Given the description of an element on the screen output the (x, y) to click on. 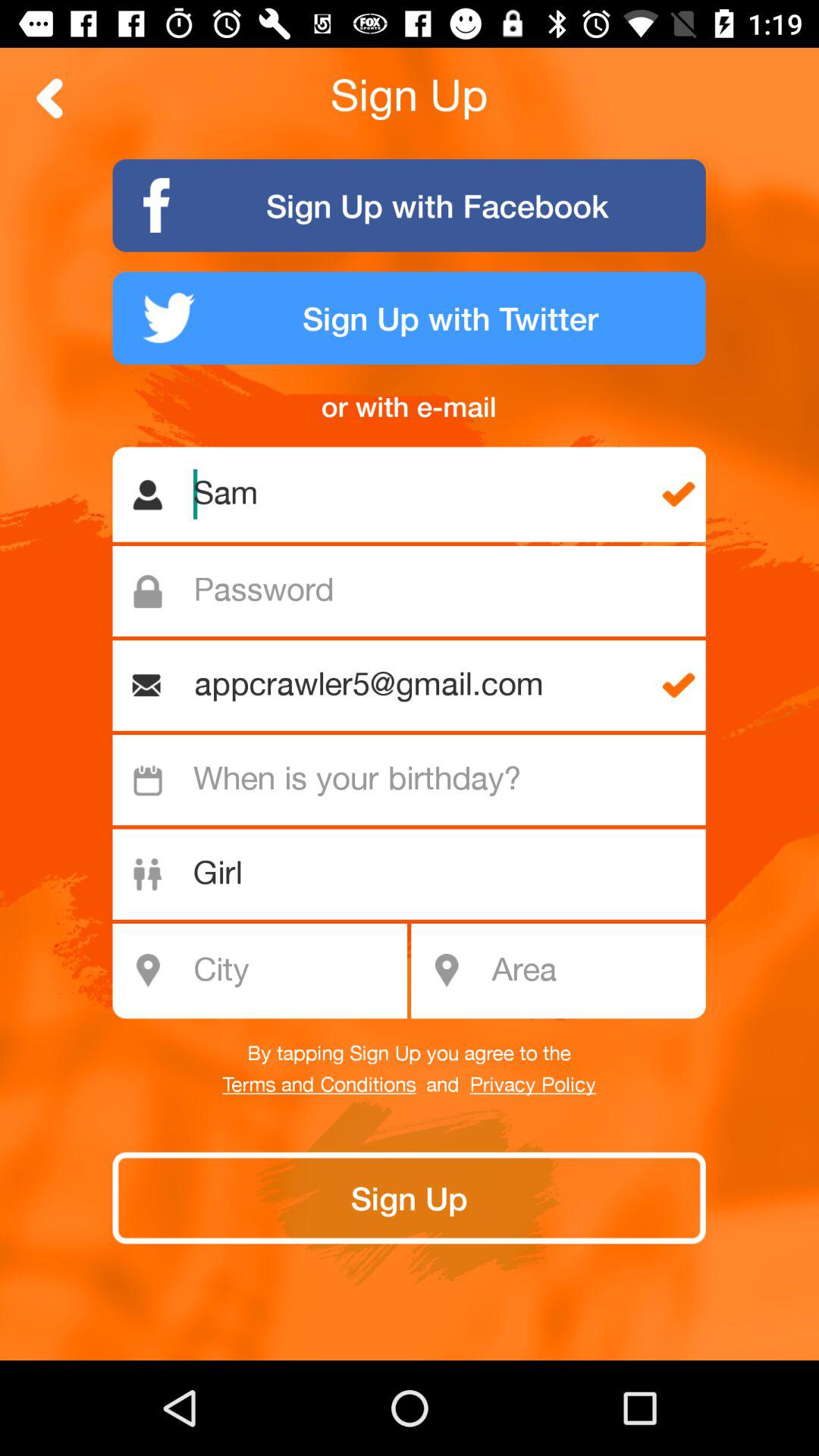
go back (50, 98)
